Given the description of an element on the screen output the (x, y) to click on. 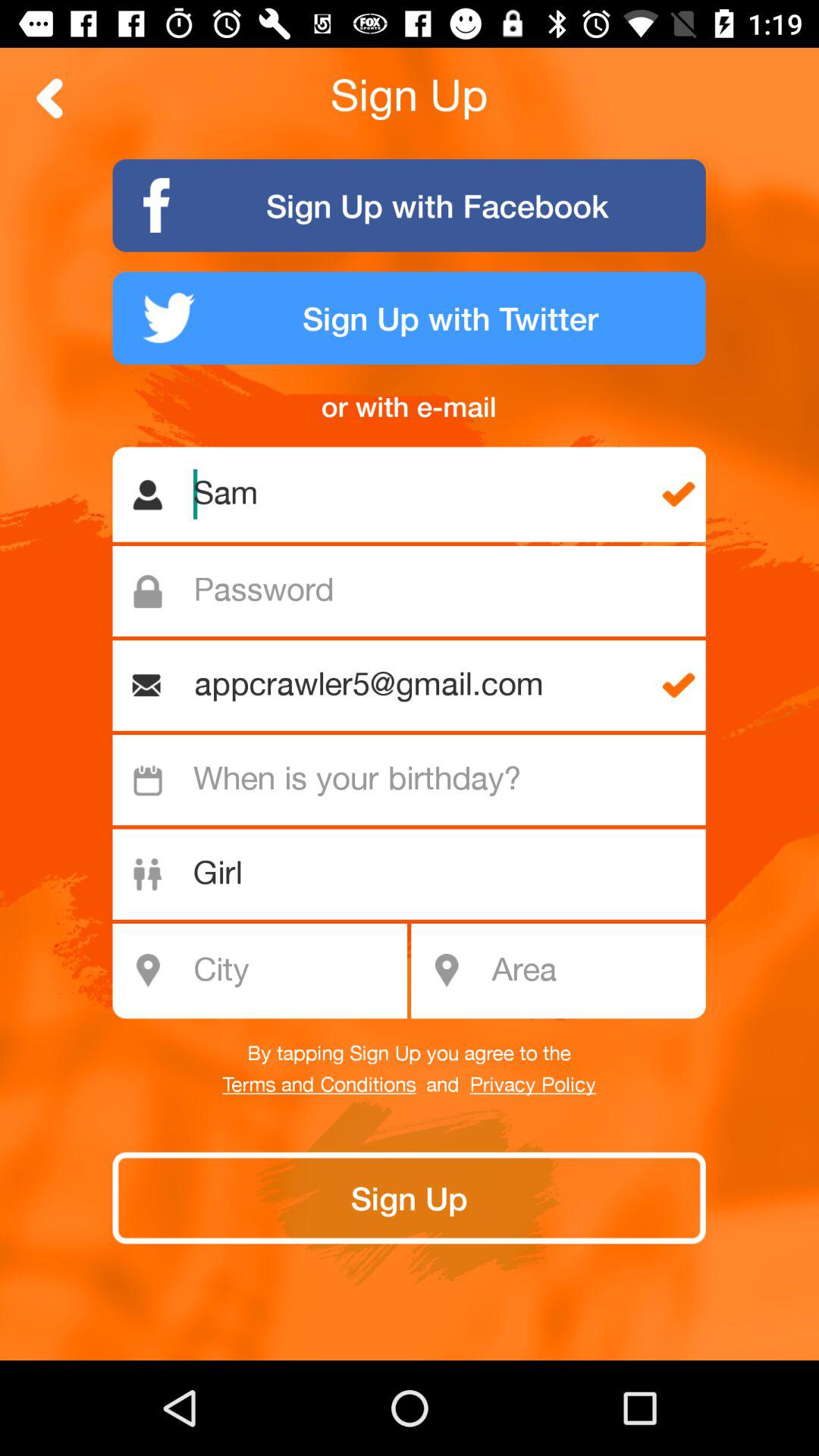
go back (50, 98)
